Given the description of an element on the screen output the (x, y) to click on. 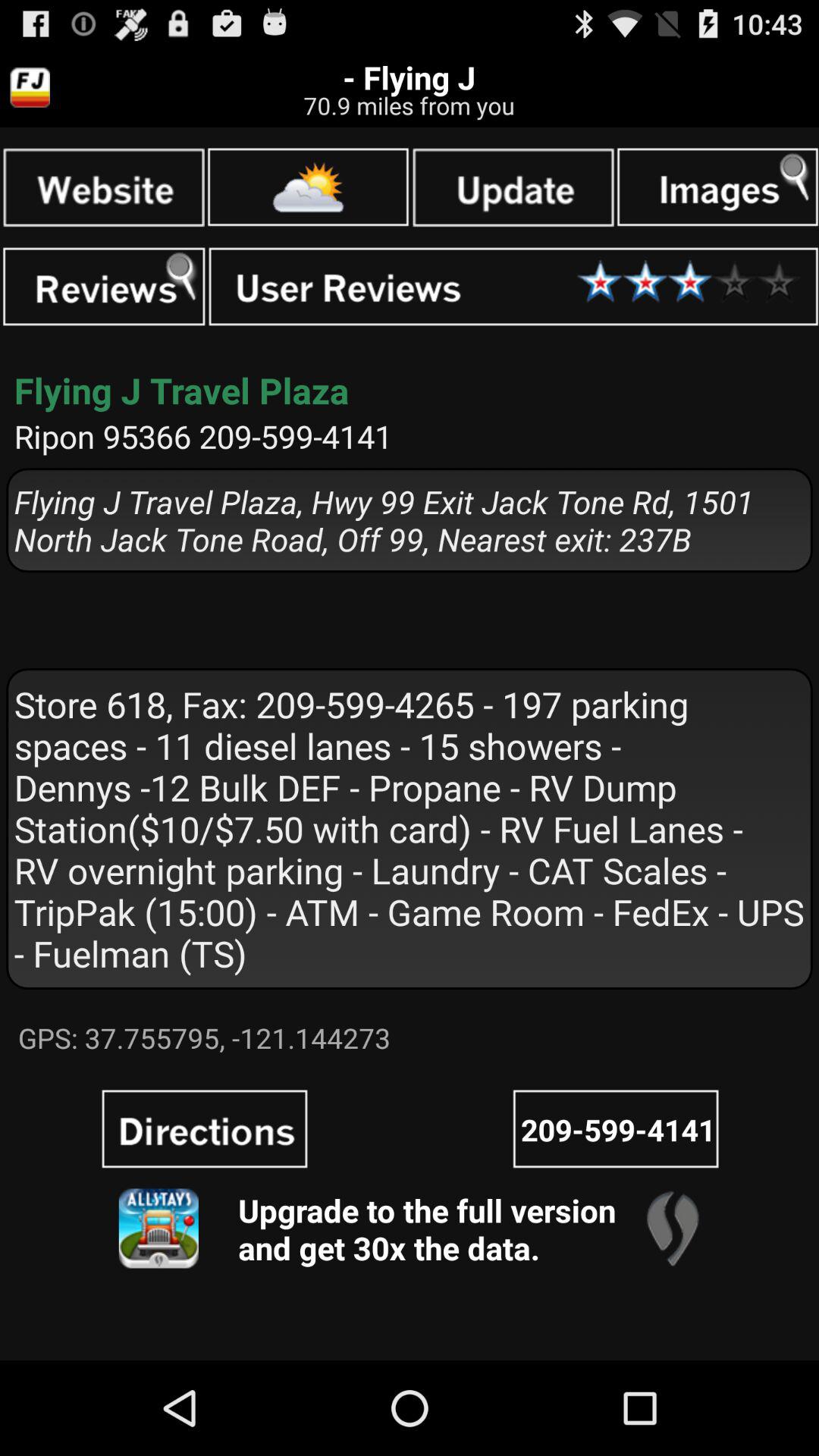
go to user reviews (513, 286)
